Given the description of an element on the screen output the (x, y) to click on. 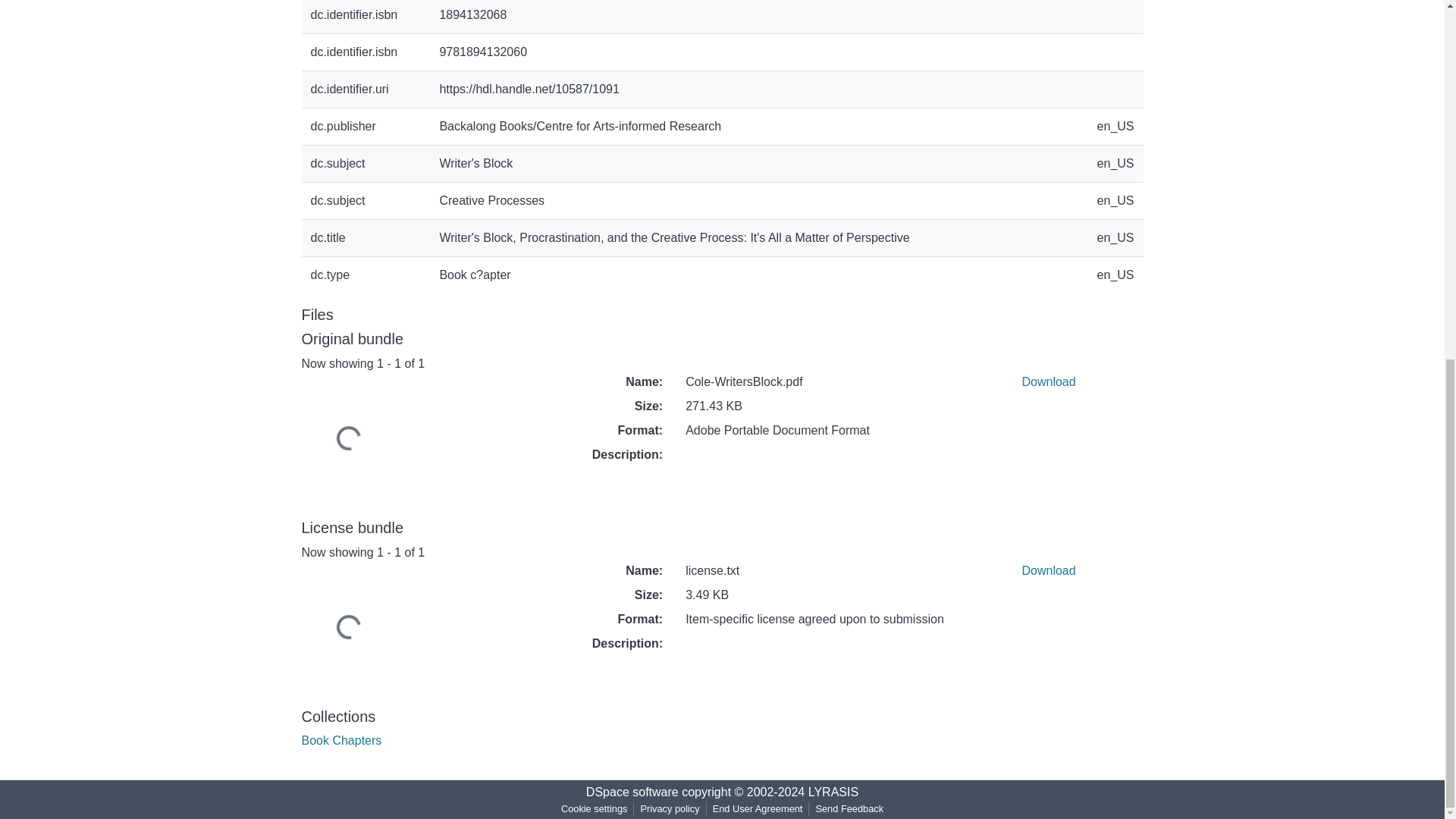
DSpace software (632, 791)
Book Chapters (341, 739)
LYRASIS (833, 791)
Cookie settings (593, 808)
Send Feedback (849, 808)
Privacy policy (668, 808)
End User Agreement (757, 808)
Download (1048, 381)
Download (1048, 570)
